Given the description of an element on the screen output the (x, y) to click on. 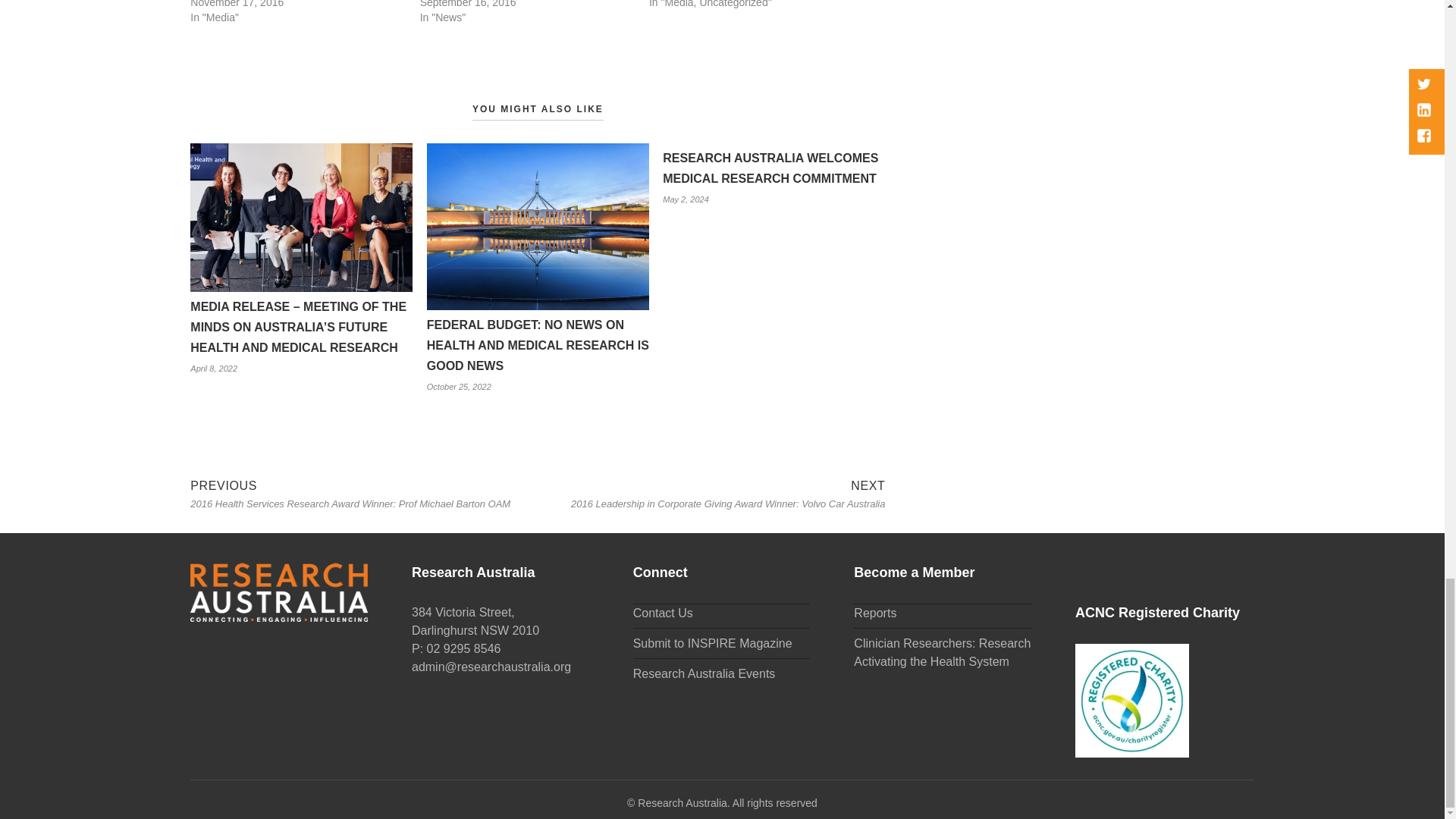
RESEARCH AUSTRALIA (726, 802)
